Given the description of an element on the screen output the (x, y) to click on. 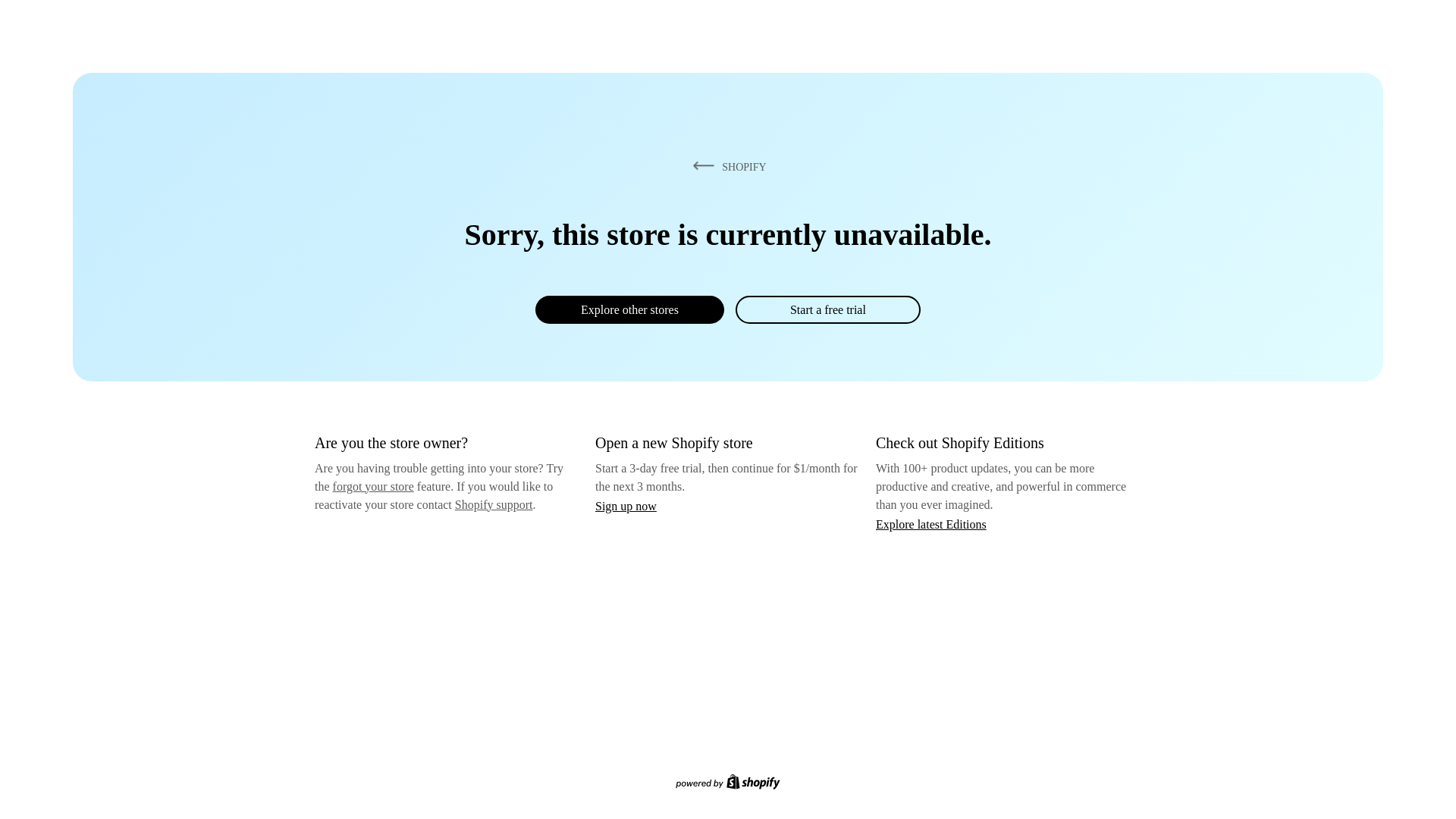
forgot your store Element type: text (373, 486)
SHOPIFY Element type: text (727, 166)
Explore latest Editions Element type: text (930, 523)
Start a free trial Element type: text (827, 309)
Shopify support Element type: text (494, 504)
Sign up now Element type: text (625, 505)
Explore other stores Element type: text (629, 309)
